Given the description of an element on the screen output the (x, y) to click on. 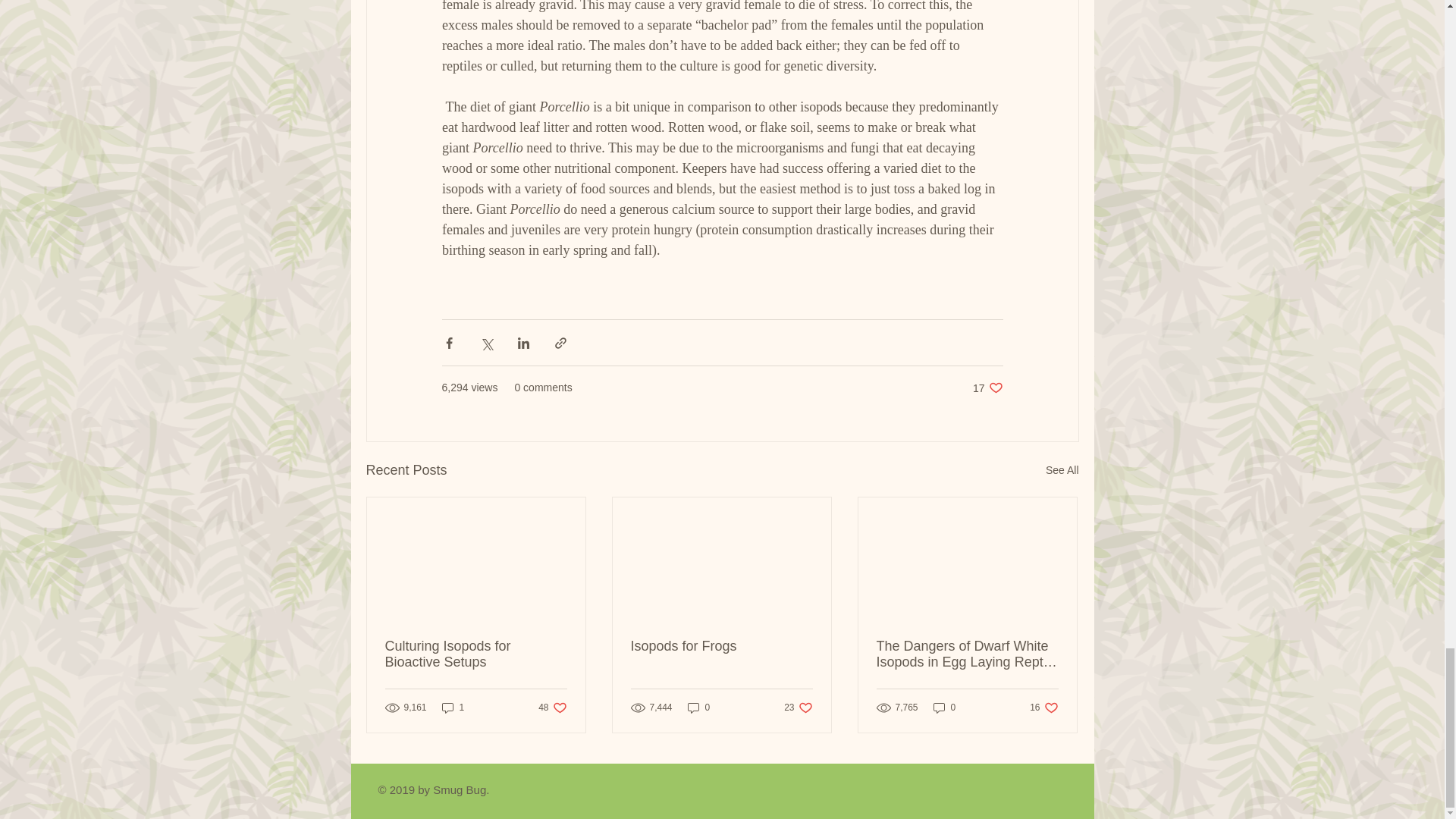
See All (1061, 470)
0 (698, 707)
Isopods for Frogs (721, 646)
0 (1043, 707)
Culturing Isopods for Bioactive Setups (944, 707)
1 (552, 707)
